Given the description of an element on the screen output the (x, y) to click on. 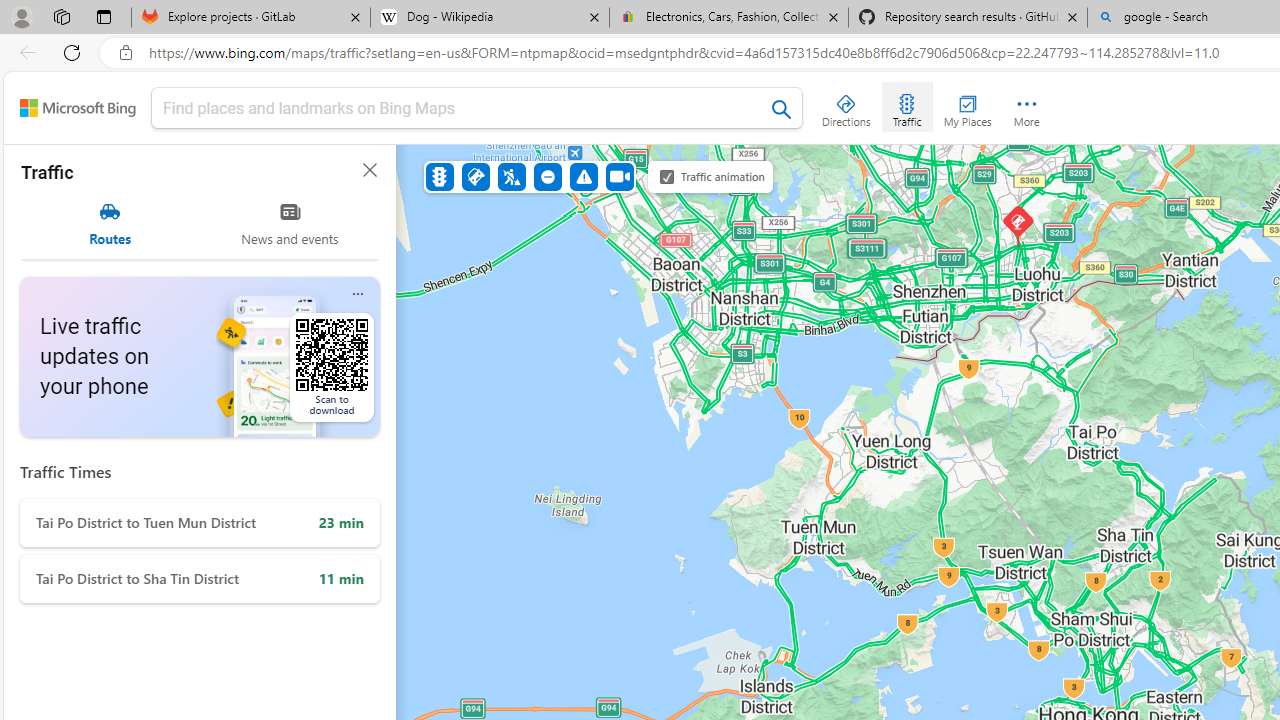
Class: sbElement (77, 107)
My Places (967, 106)
Accidents (476, 176)
Routes (109, 223)
My Places (967, 106)
Class: inputbox (477, 111)
Search Bing Maps (781, 109)
